Given the description of an element on the screen output the (x, y) to click on. 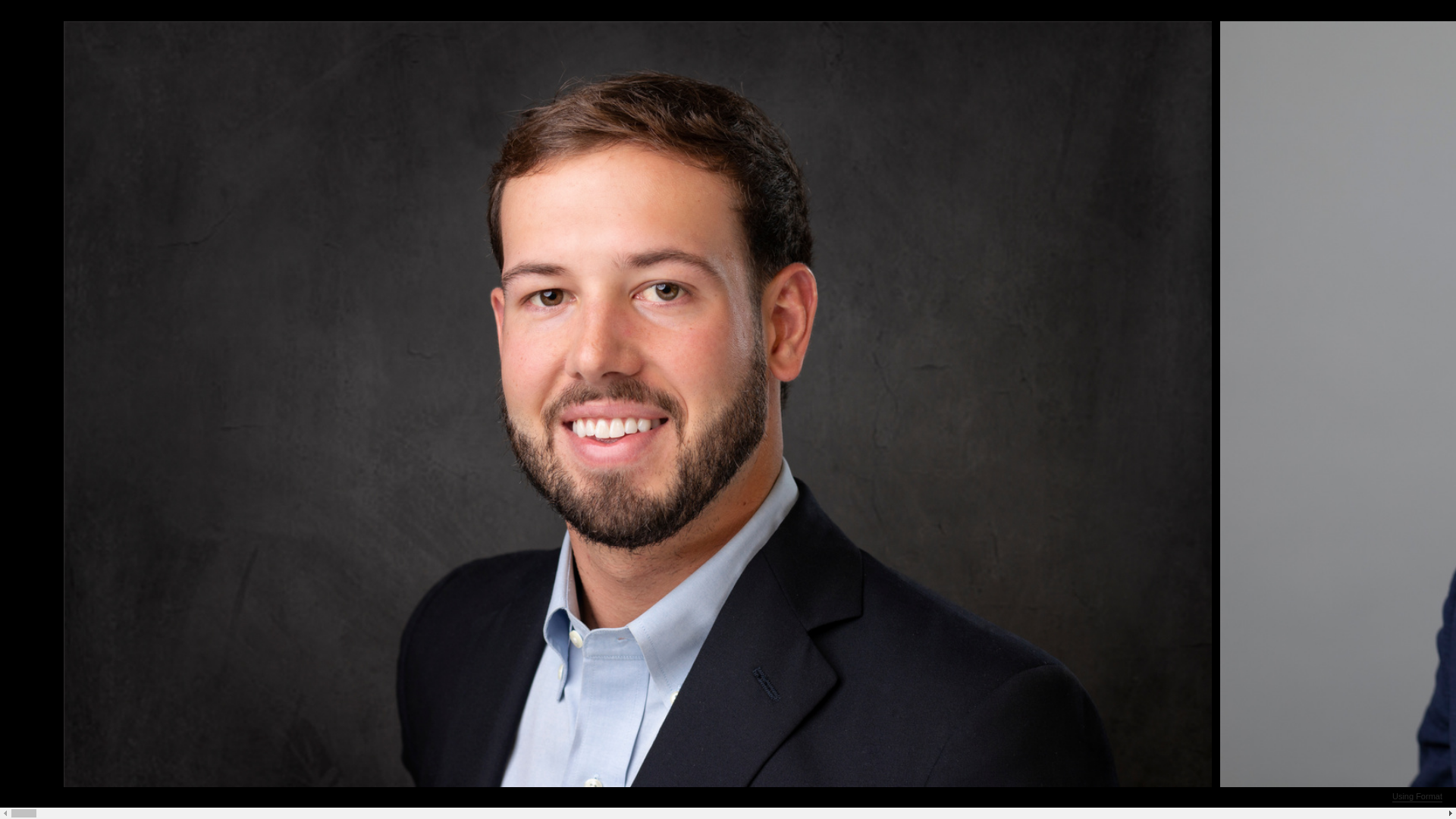
Using Format Element type: text (1417, 796)
